Given the description of an element on the screen output the (x, y) to click on. 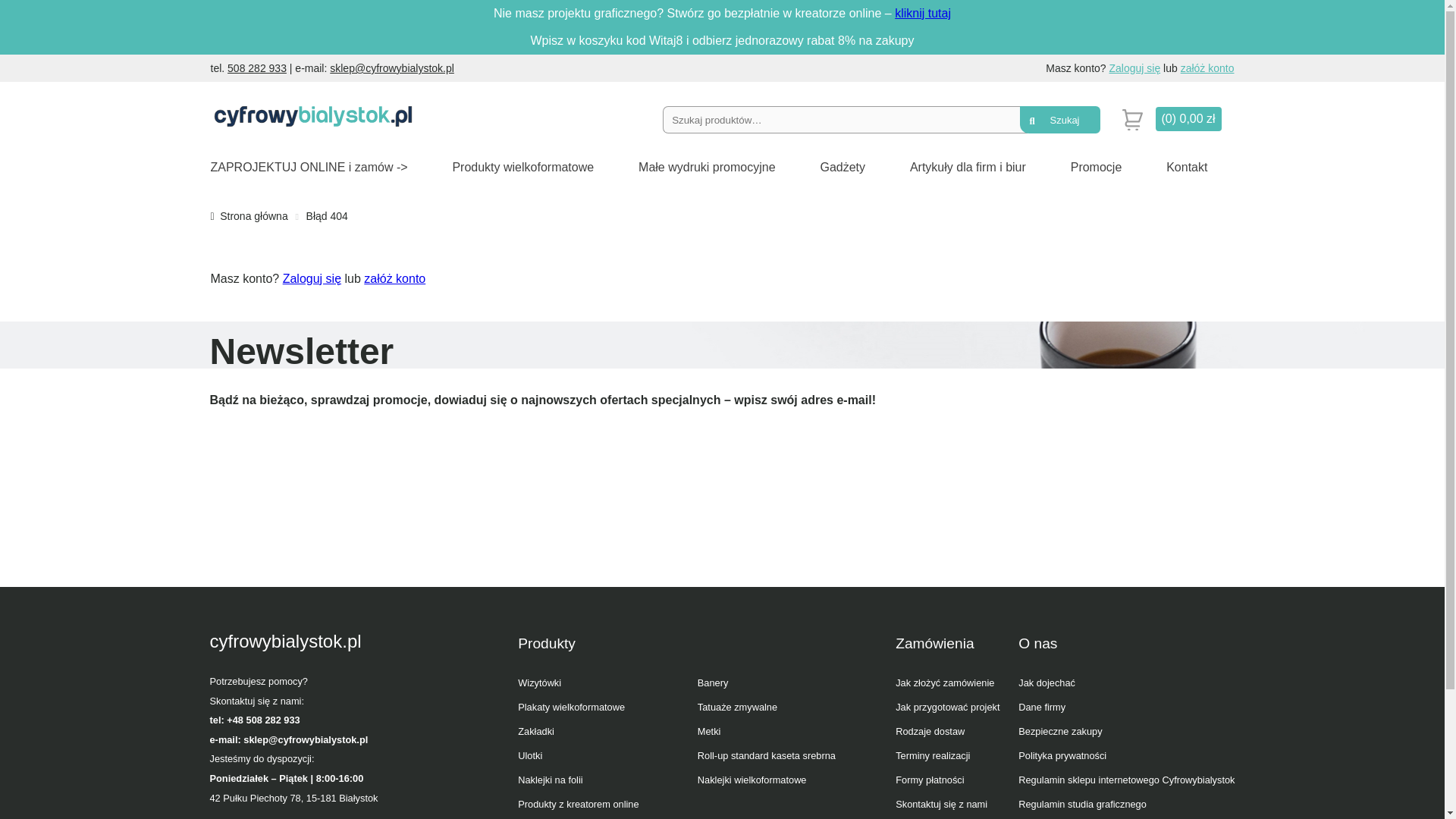
Kontakt (1186, 166)
Produkty wielkoformatowe (522, 166)
kliknij tutaj (922, 12)
508 282 933 (256, 68)
Szukaj (1059, 119)
Promocje (1096, 166)
